Given the description of an element on the screen output the (x, y) to click on. 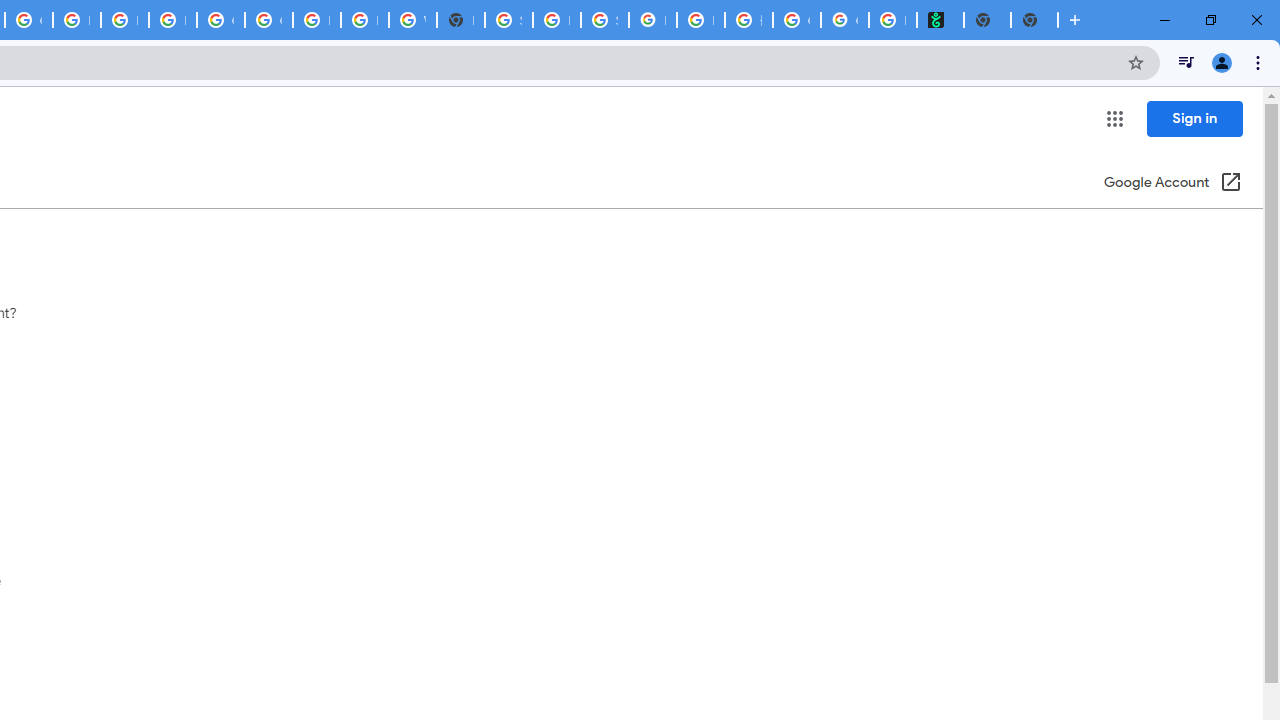
Sign in - Google Accounts (508, 20)
New Tab (460, 20)
Google Cloud Platform (220, 20)
Google Account (Open in a new window) (1172, 183)
Google Cloud Platform (268, 20)
